Given the description of an element on the screen output the (x, y) to click on. 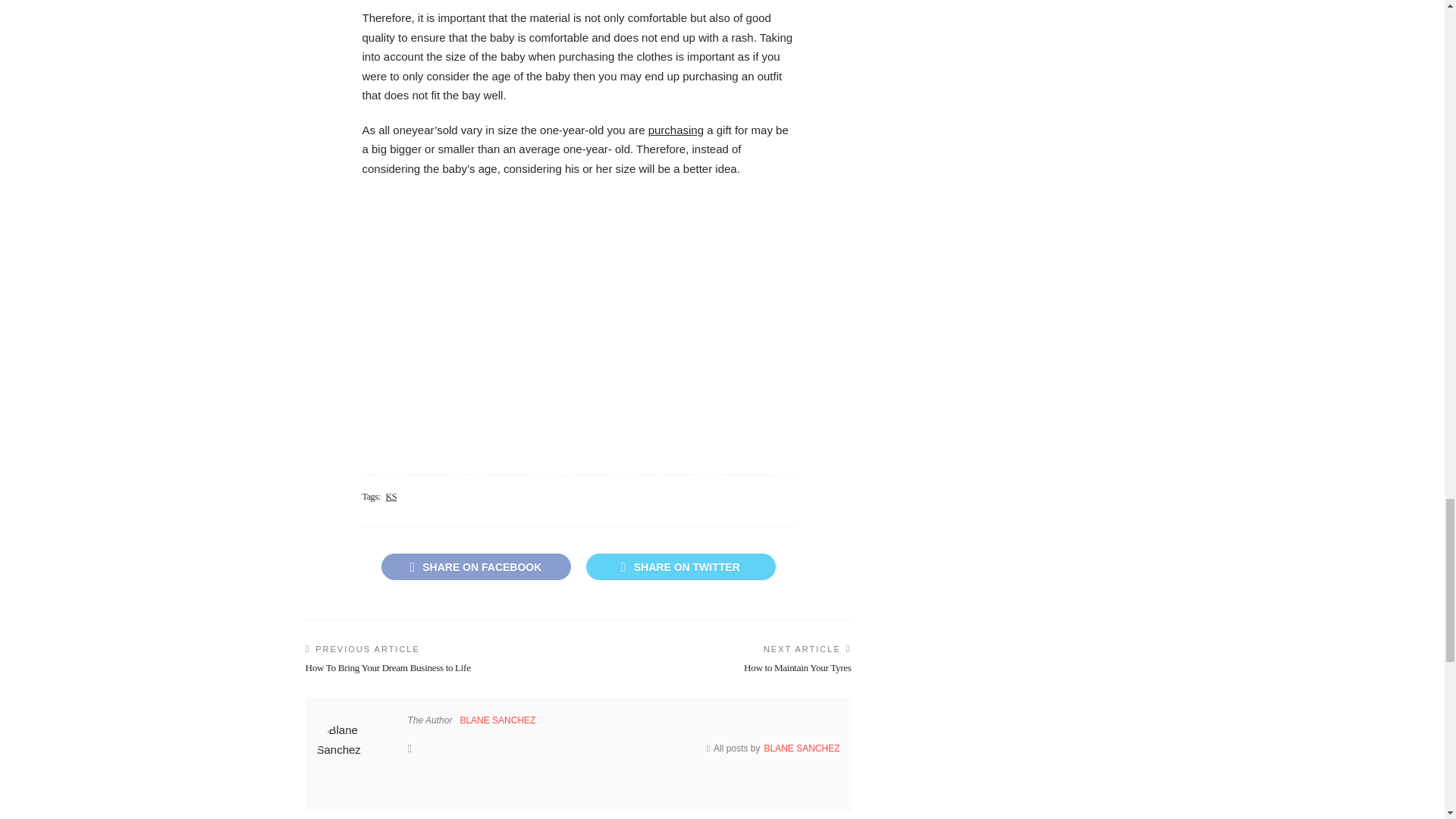
How To Bring Your Dream Business to Life (387, 667)
How to Maintain Your Tyres (797, 667)
purchasing (675, 129)
